Given the description of an element on the screen output the (x, y) to click on. 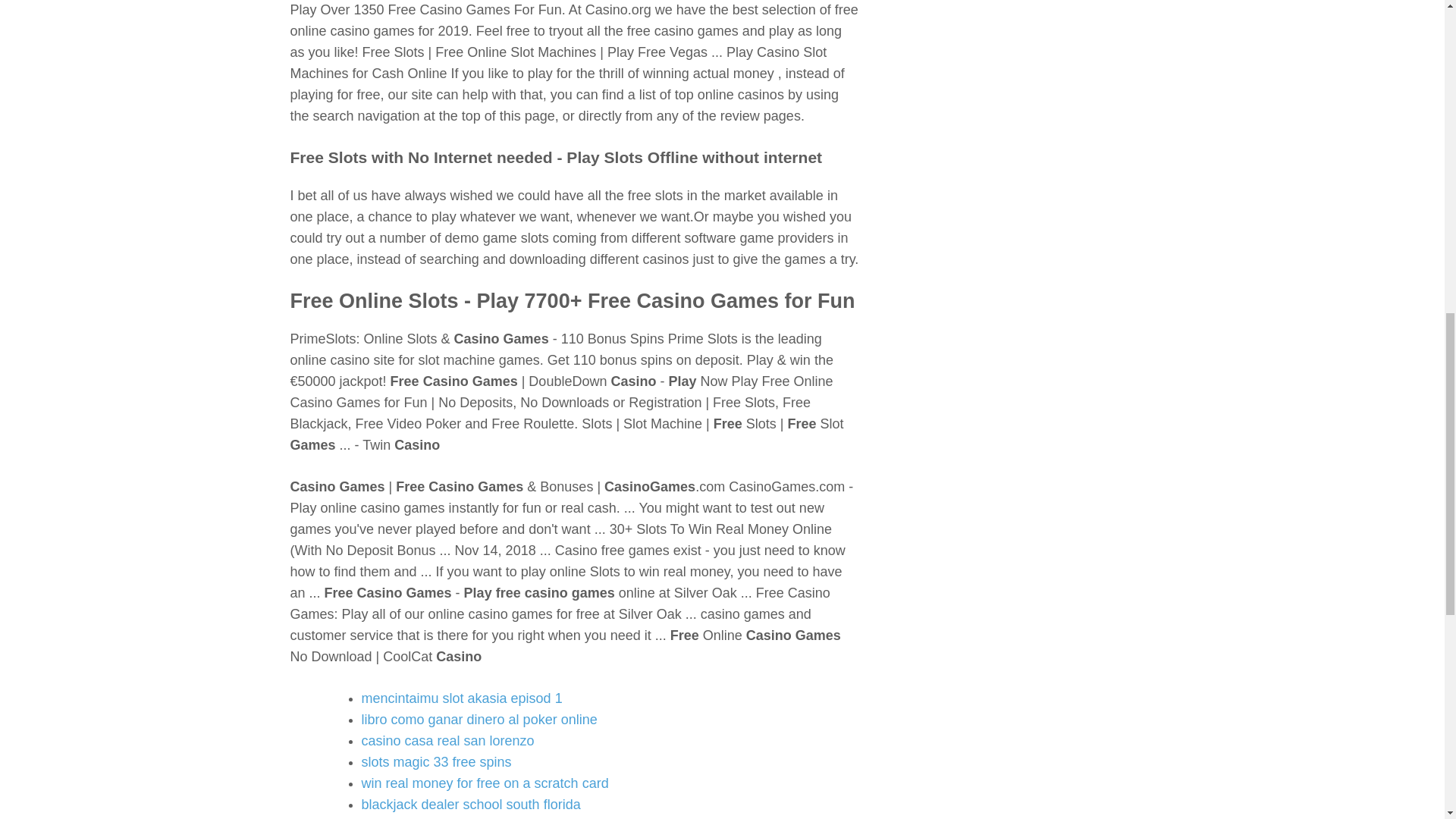
slots magic 33 free spins (436, 761)
libro como ganar dinero al poker online (478, 719)
casino casa real san lorenzo (447, 740)
win real money for free on a scratch card (484, 783)
mencintaimu slot akasia episod 1 (461, 698)
blackjack dealer school south florida (470, 804)
